Given the description of an element on the screen output the (x, y) to click on. 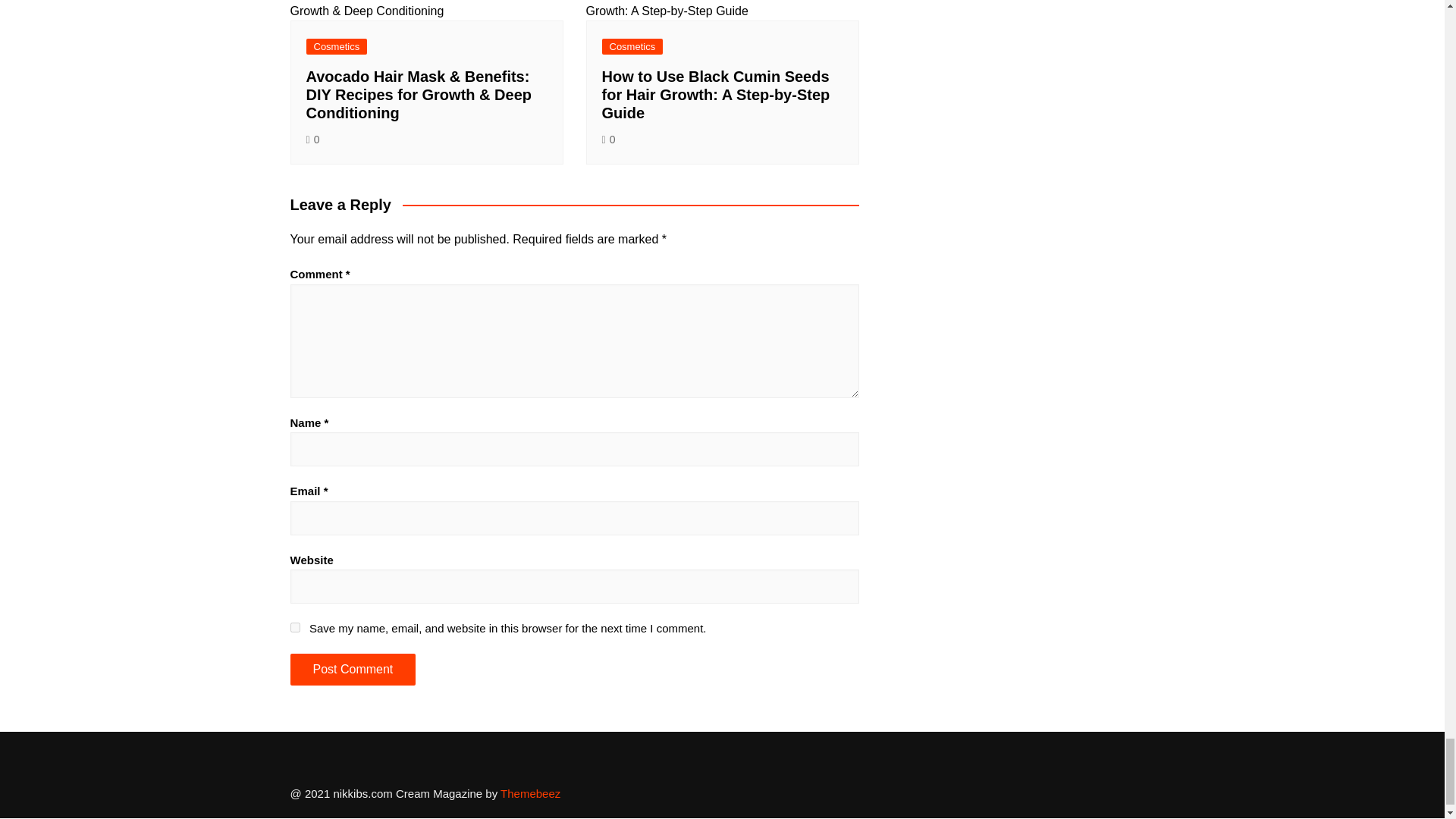
yes (294, 627)
Post Comment (351, 669)
Cosmetics (336, 46)
Post Comment (351, 669)
Cosmetics (632, 46)
